Given the description of an element on the screen output the (x, y) to click on. 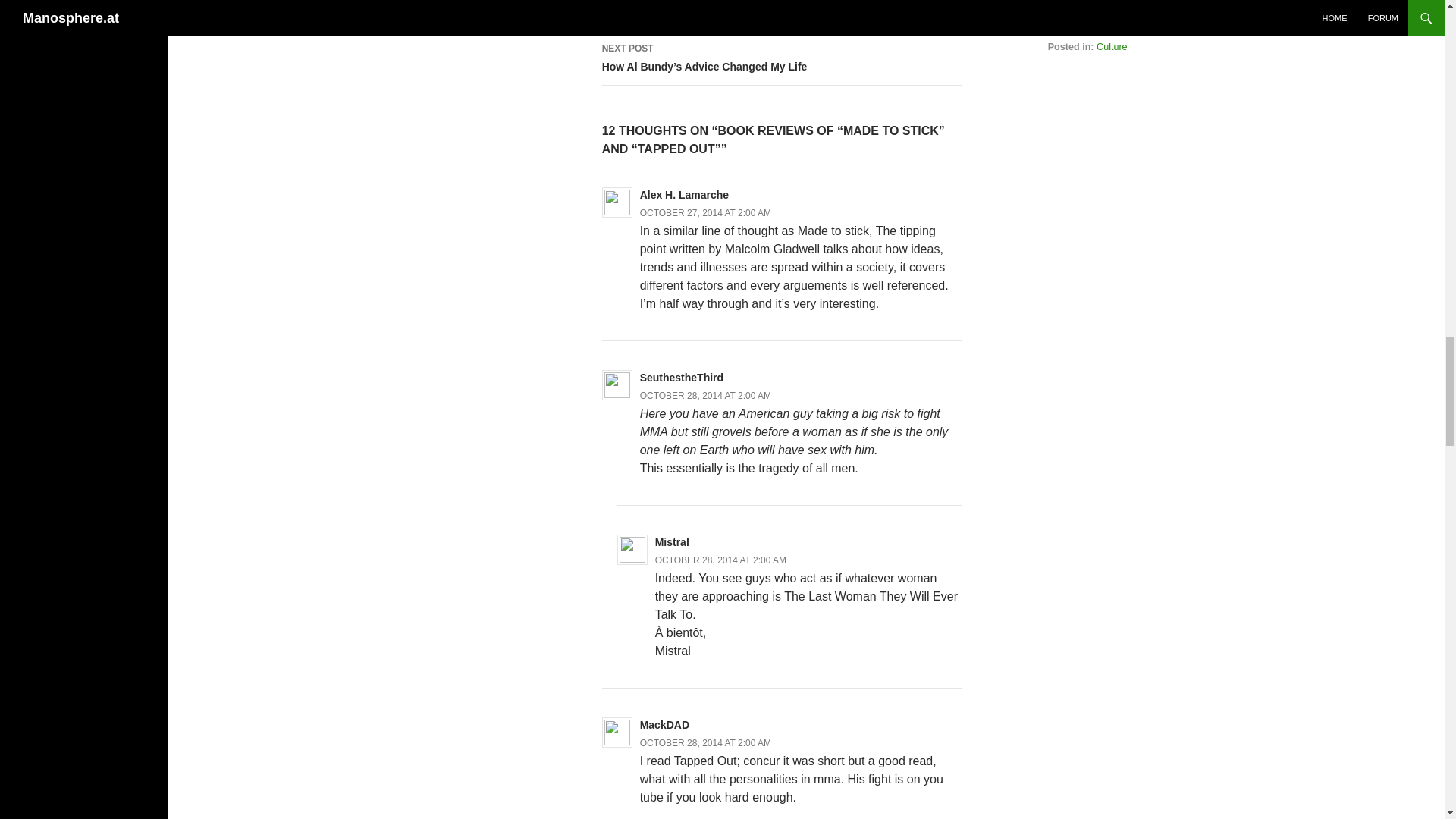
OCTOBER 28, 2014 AT 2:00 AM (705, 394)
OCTOBER 28, 2014 AT 2:00 AM (705, 742)
OCTOBER 28, 2014 AT 2:00 AM (781, 15)
OCTOBER 27, 2014 AT 2:00 AM (720, 560)
